Given the description of an element on the screen output the (x, y) to click on. 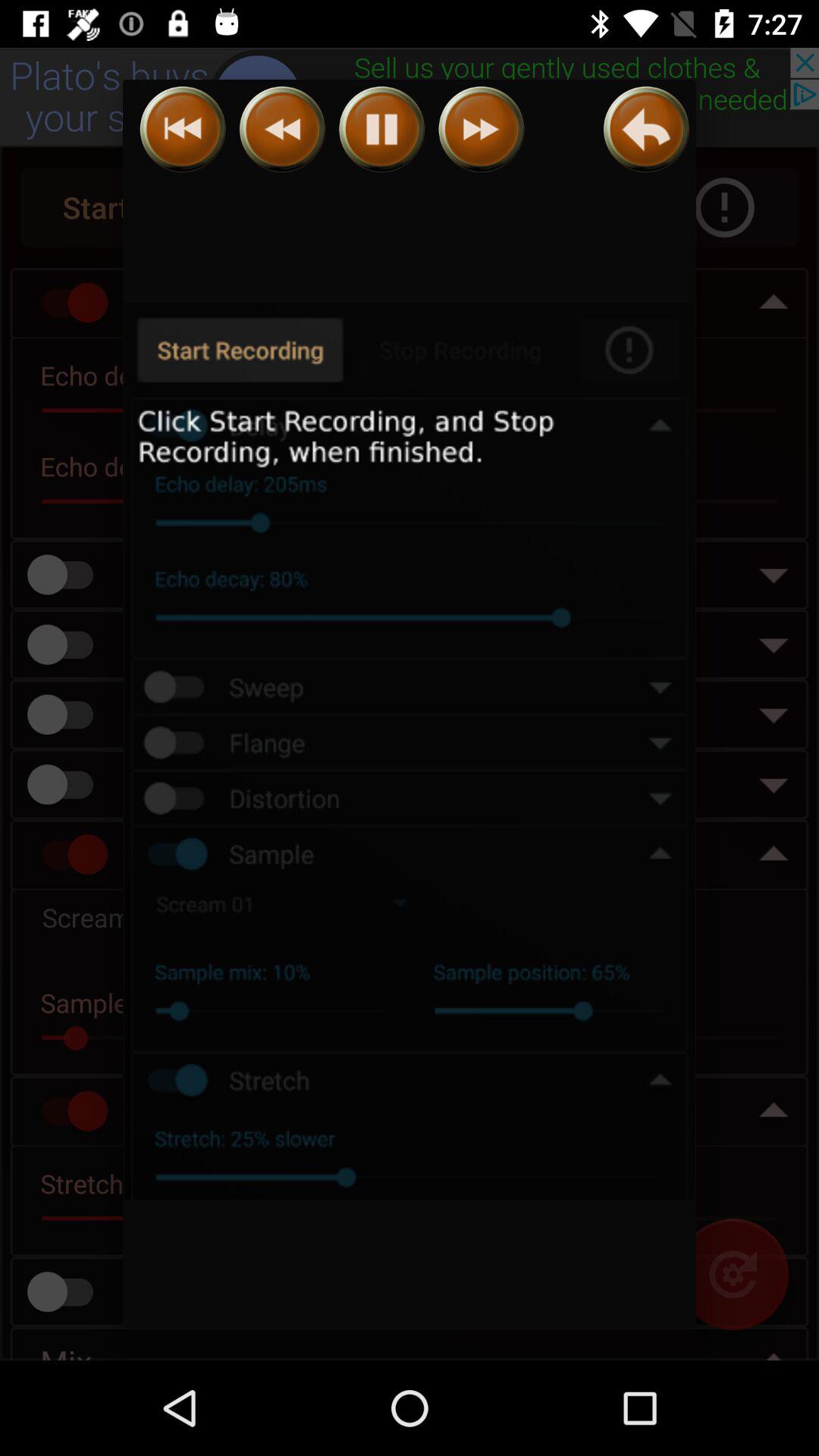
toggle back button (282, 129)
